Given the description of an element on the screen output the (x, y) to click on. 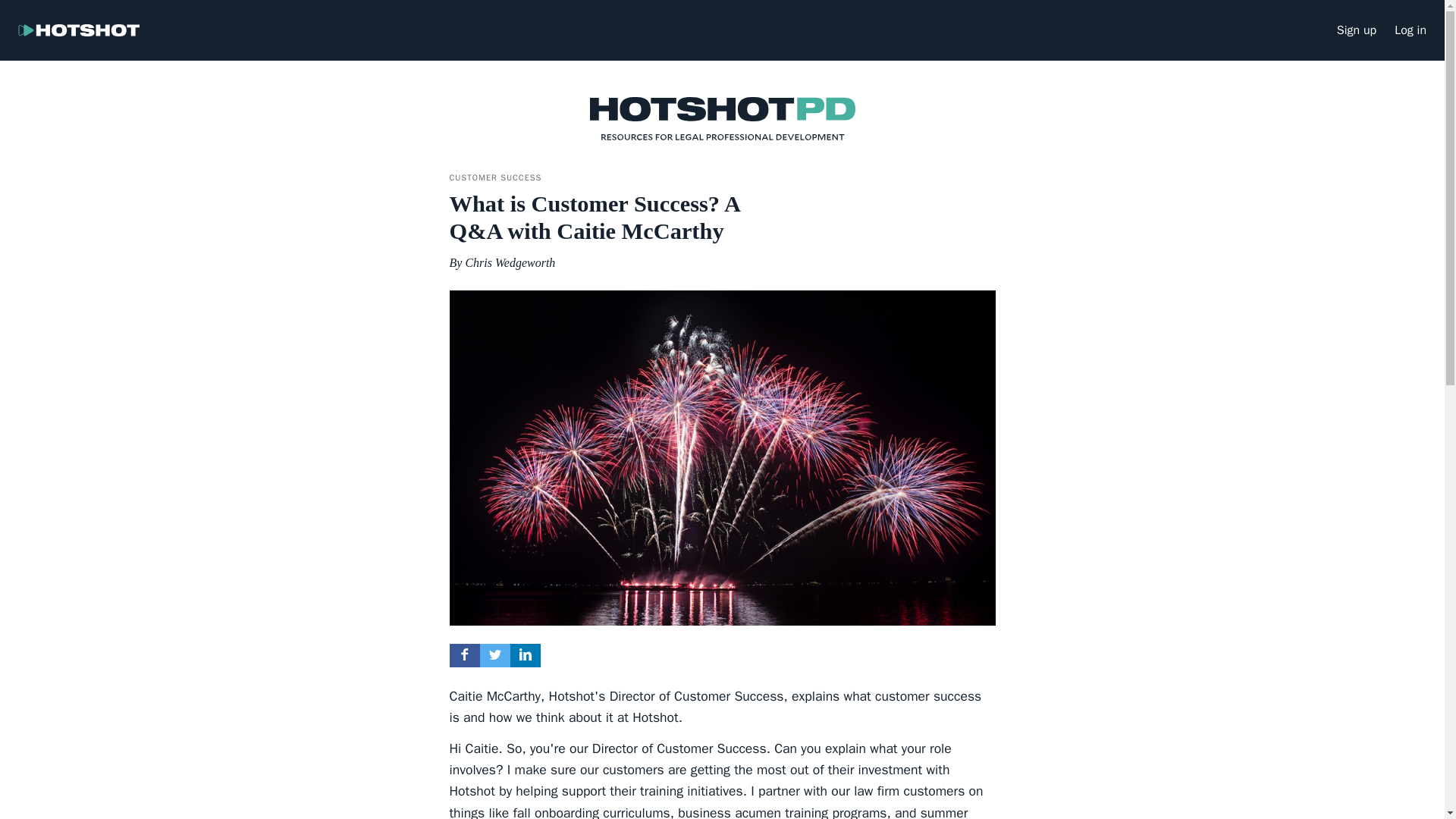
share on Facebook (463, 655)
share on Twitter (494, 655)
Hotshot PD, Resources for legal professional development (722, 131)
Hotshot home (78, 30)
share on LinkedIn (524, 655)
share on Facebook (464, 654)
share on LinkedIn (524, 654)
Sign up (1355, 33)
Hotshot PD, Resources for legal professional development (722, 118)
Log in (1410, 33)
